Given the description of an element on the screen output the (x, y) to click on. 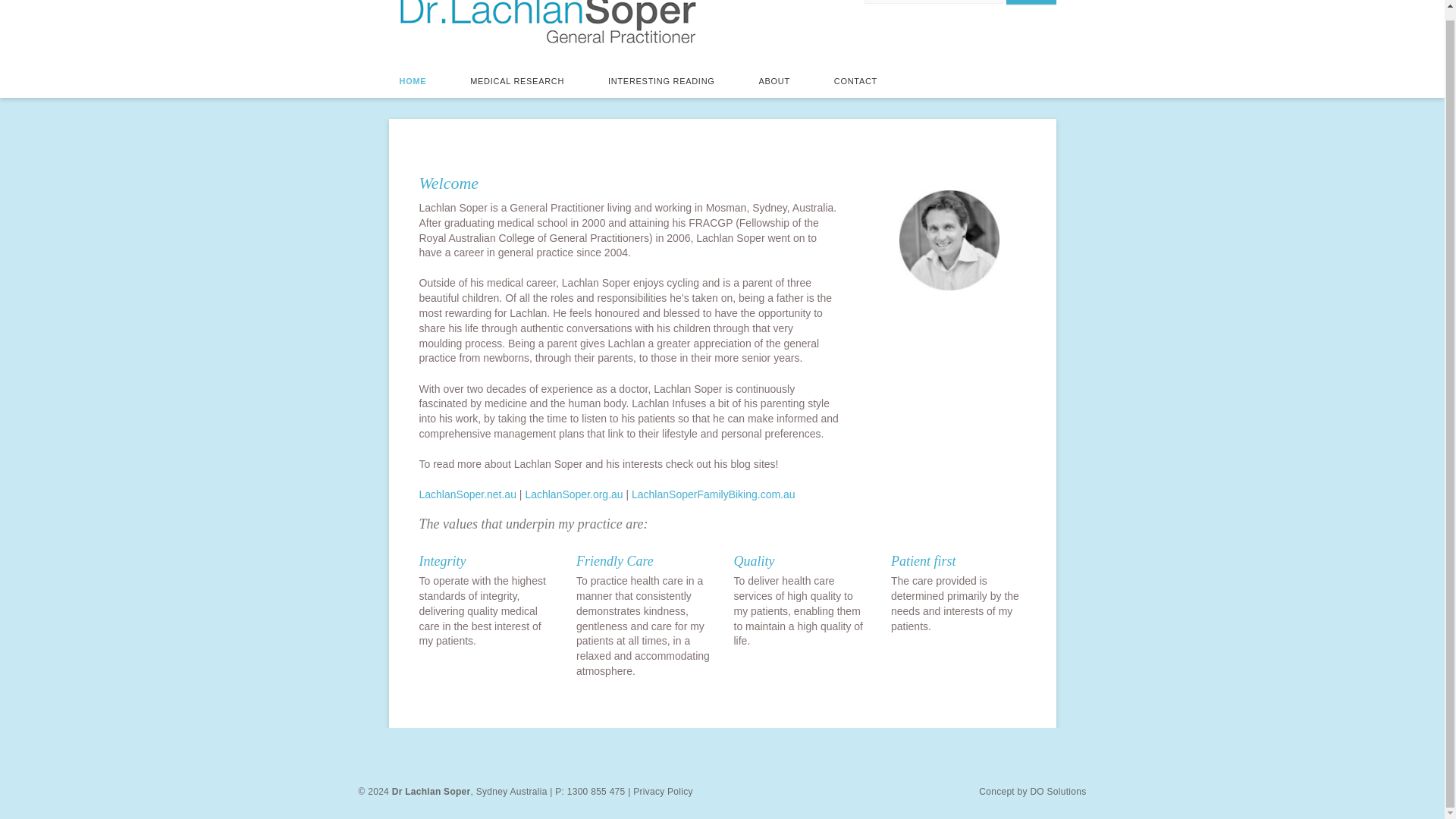
LachlanSoperFamilyBiking.com.au (712, 494)
DrLachlanSoper (948, 240)
MEDICAL RESEARCH (517, 81)
LachlanSoper.net.au (467, 494)
Privacy Policy - Dr Lachlan Soper (661, 791)
Search (1031, 2)
LachlanSoper.org.au (573, 494)
CONTACT (855, 81)
